Given the description of an element on the screen output the (x, y) to click on. 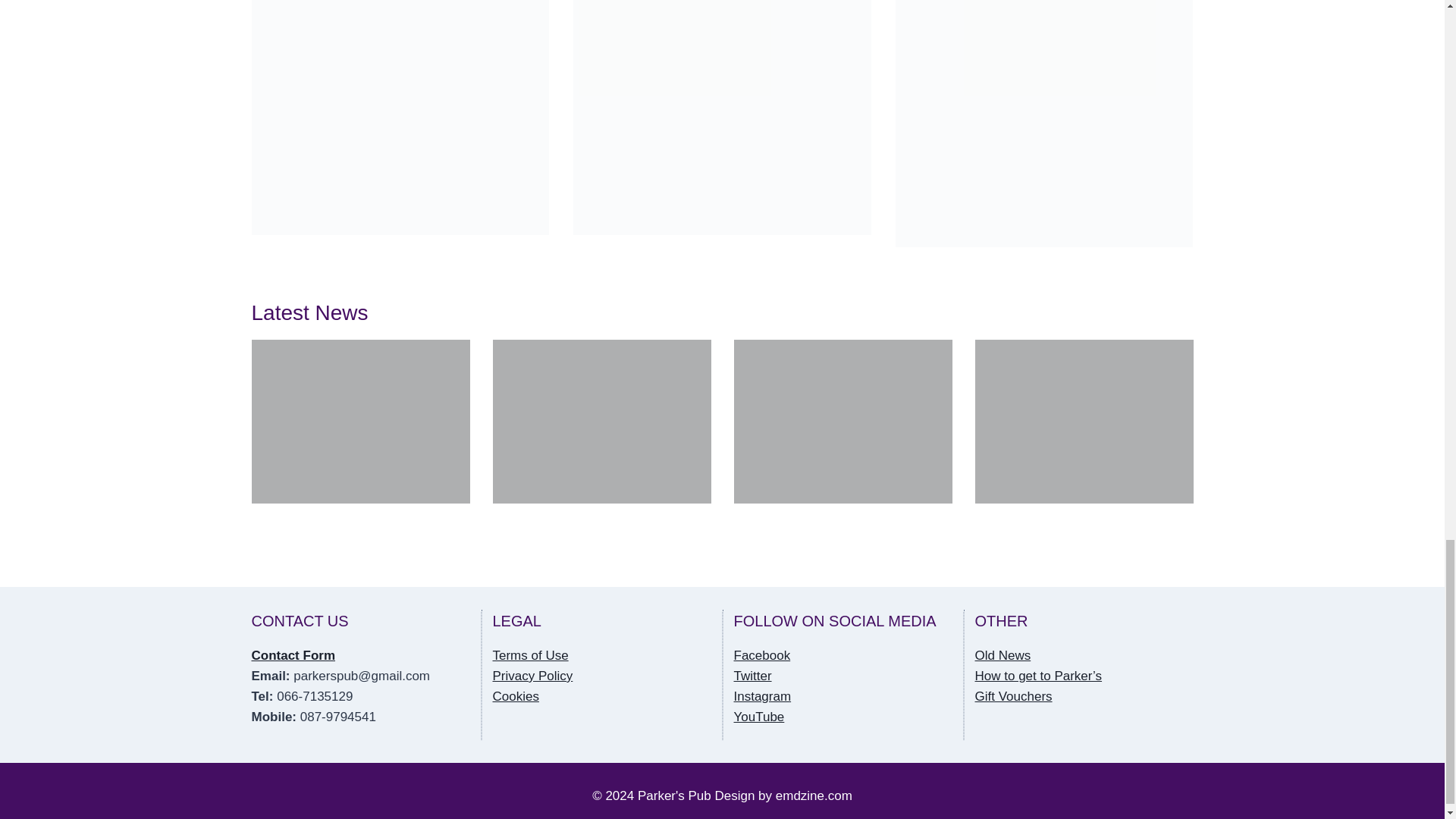
Cookies (515, 696)
Facebook (761, 655)
Contact Form (293, 655)
Terms of Use (531, 655)
Privacy Policy (533, 676)
